Given the description of an element on the screen output the (x, y) to click on. 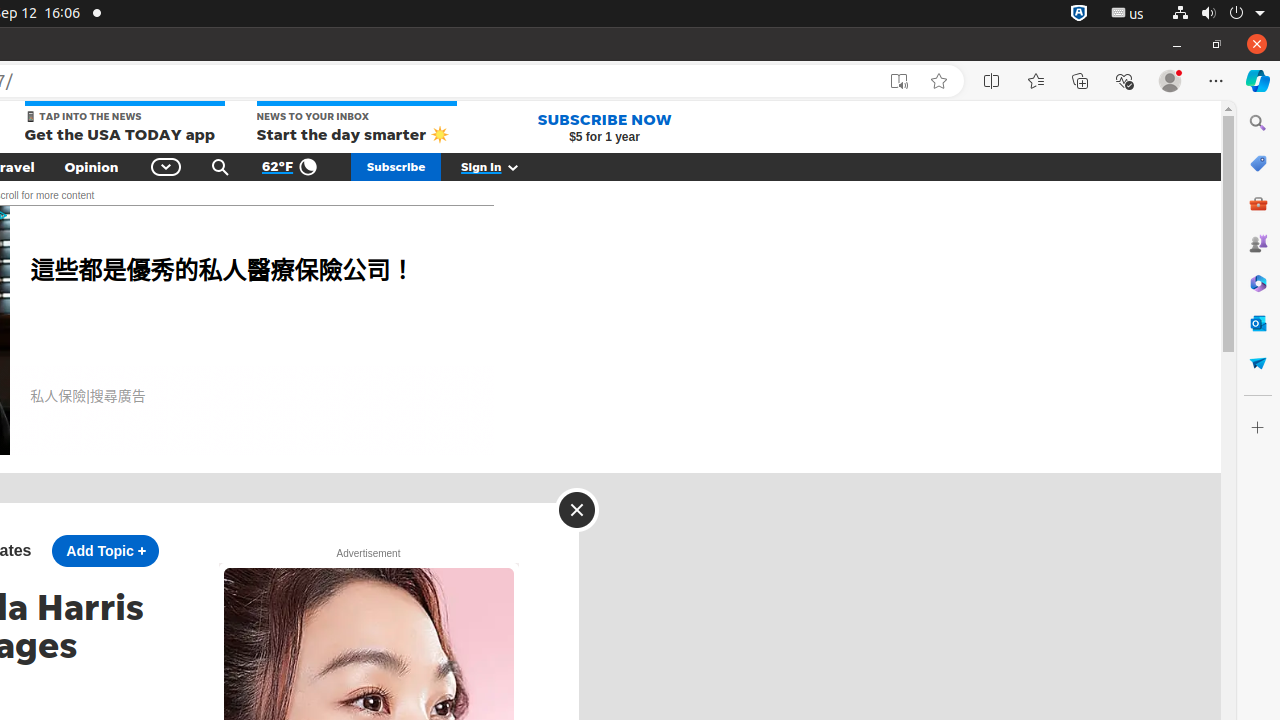
SUBSCRIBE NOW $5 for 1 year Element type: link (604, 127)
